Given the description of an element on the screen output the (x, y) to click on. 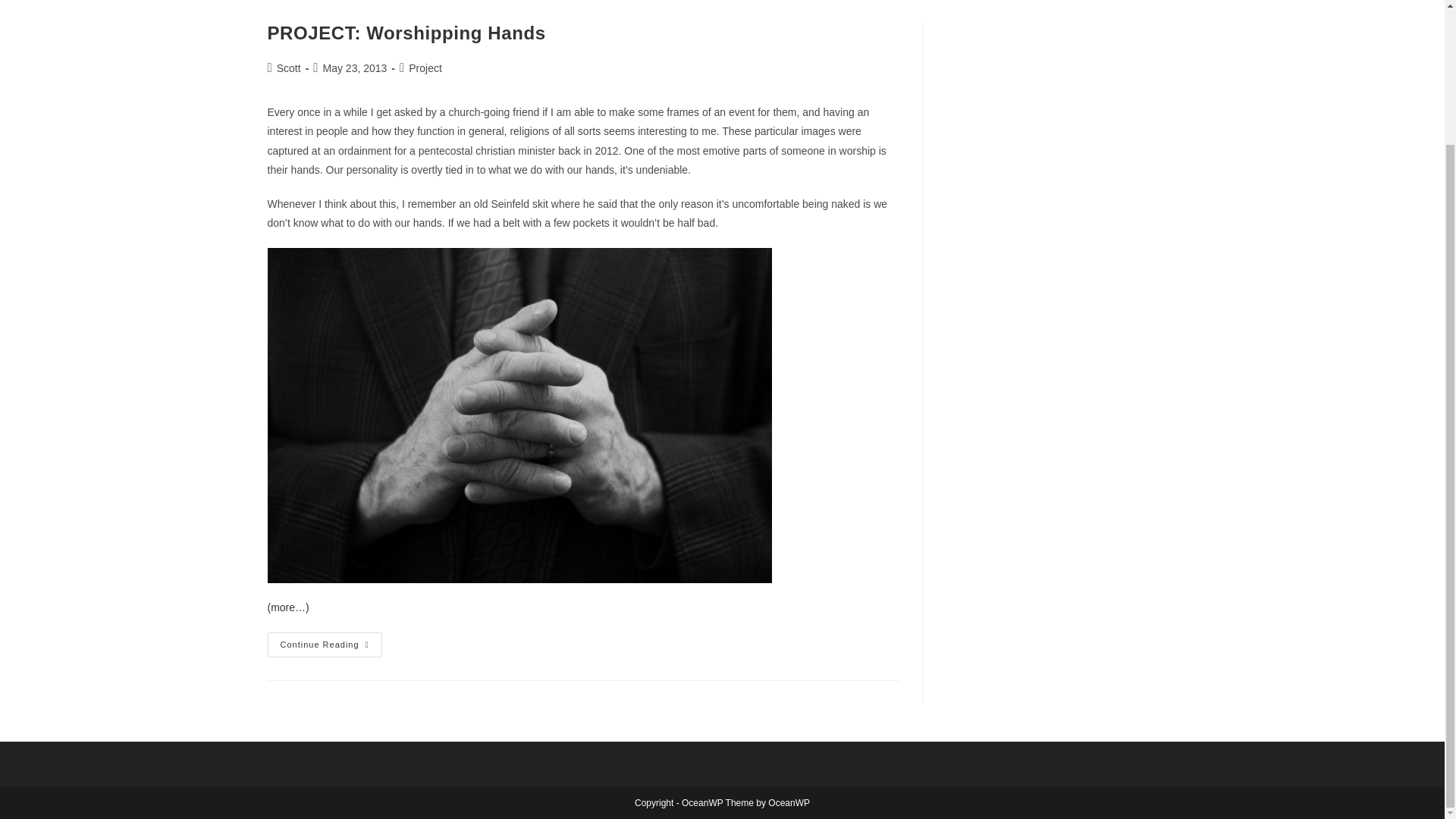
PROJECT: Worshipping Hands (323, 644)
Posts by Scott (405, 32)
Project (288, 68)
Scott (425, 68)
